Given the description of an element on the screen output the (x, y) to click on. 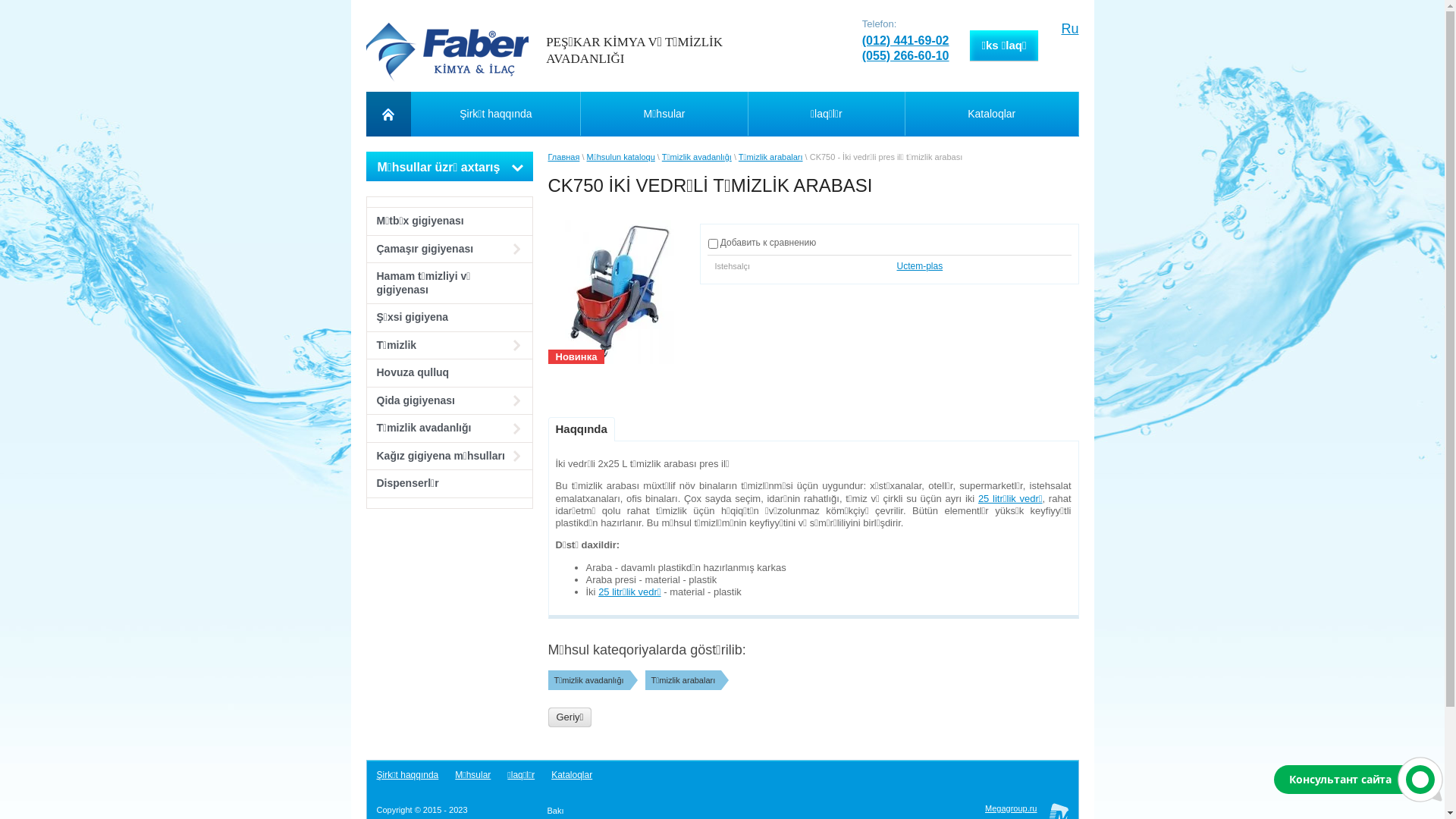
(012) 441-69-02 Element type: text (905, 40)
Kataloqlar Element type: text (571, 774)
(055) 266-60-10 Element type: text (905, 55)
Uctem-plas Element type: text (919, 265)
Kataloqlar Element type: text (991, 113)
Hovuza qulluq Element type: text (449, 372)
Megagroup.ru Element type: text (1011, 807)
Ru Element type: text (1069, 28)
